Given the description of an element on the screen output the (x, y) to click on. 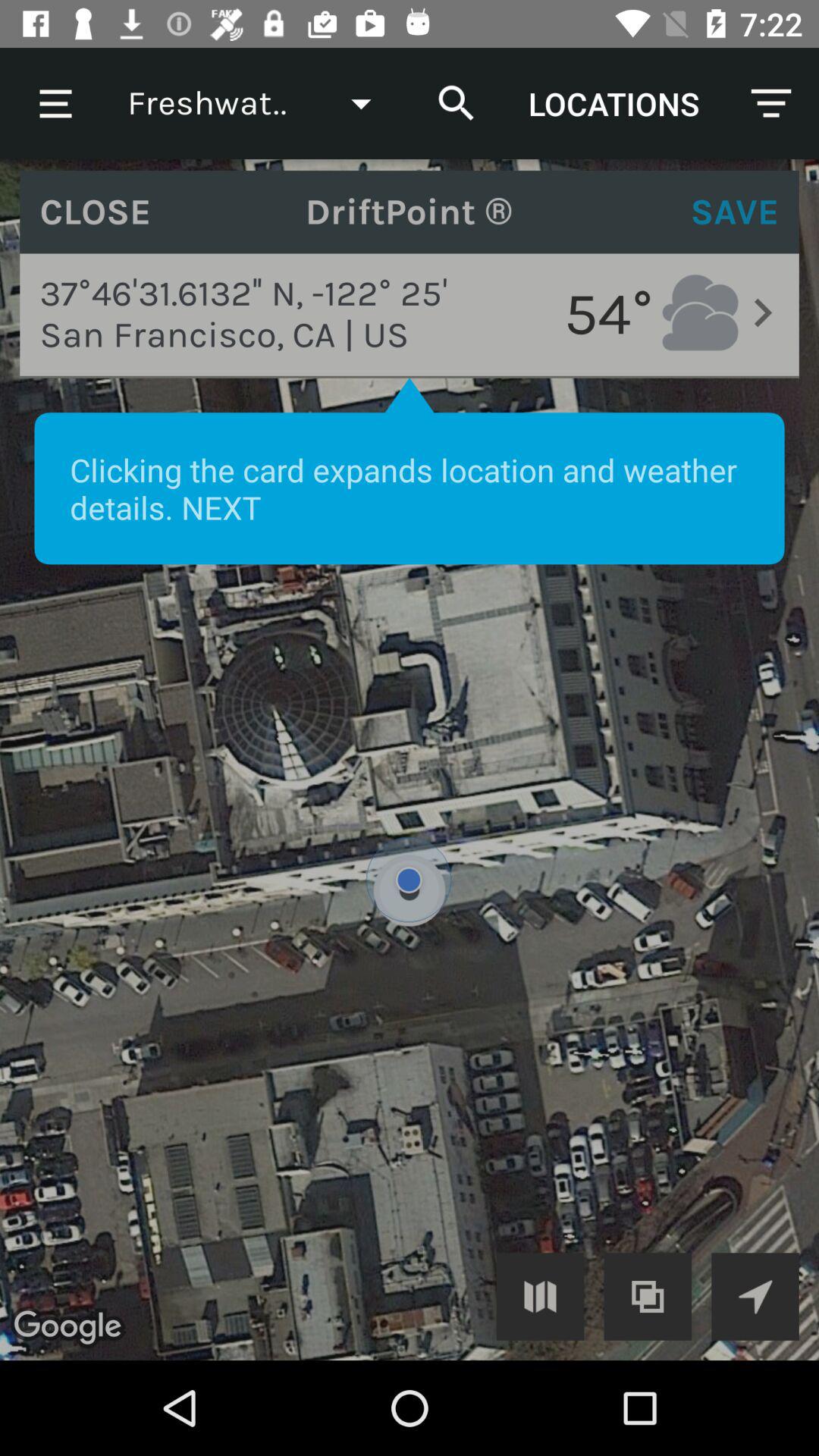
expand the image (540, 1296)
